Given the description of an element on the screen output the (x, y) to click on. 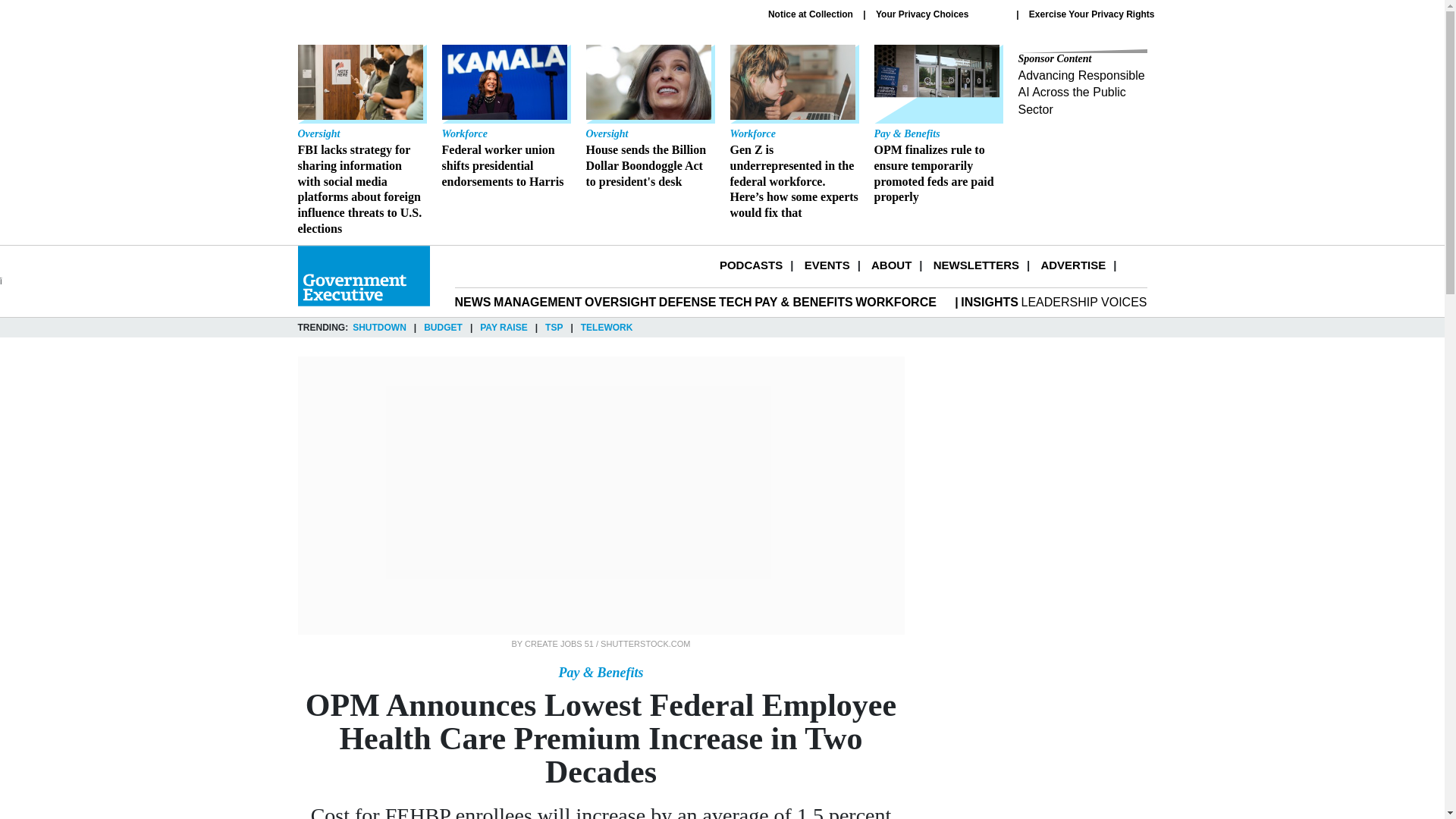
EVENTS (827, 264)
PODCASTS (751, 264)
NEWSLETTERS (976, 264)
ADVERTISE (1073, 264)
ABOUT (890, 264)
Your Privacy Choices (941, 14)
Exercise Your Privacy Rights (1091, 14)
Notice at Collection (810, 14)
